Given the description of an element on the screen output the (x, y) to click on. 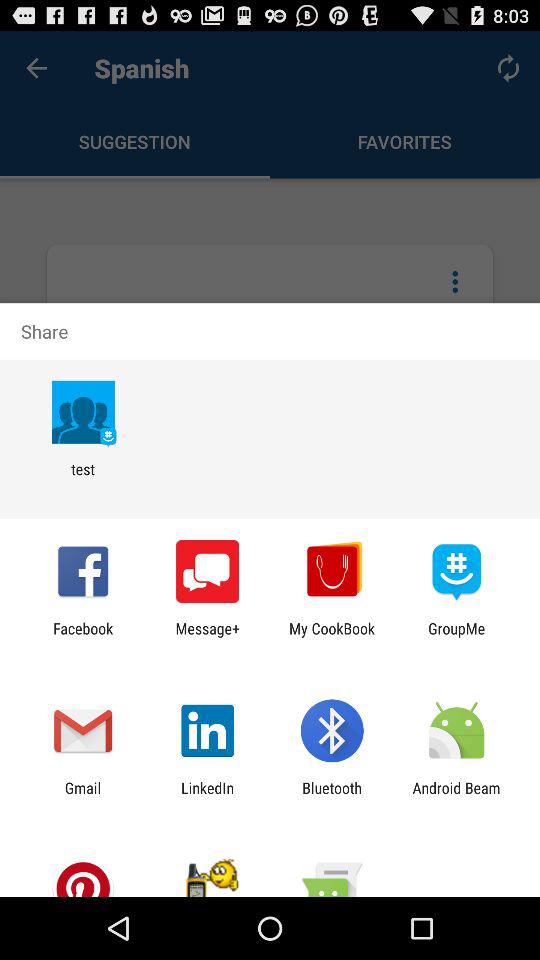
turn off item to the right of facebook app (207, 637)
